Given the description of an element on the screen output the (x, y) to click on. 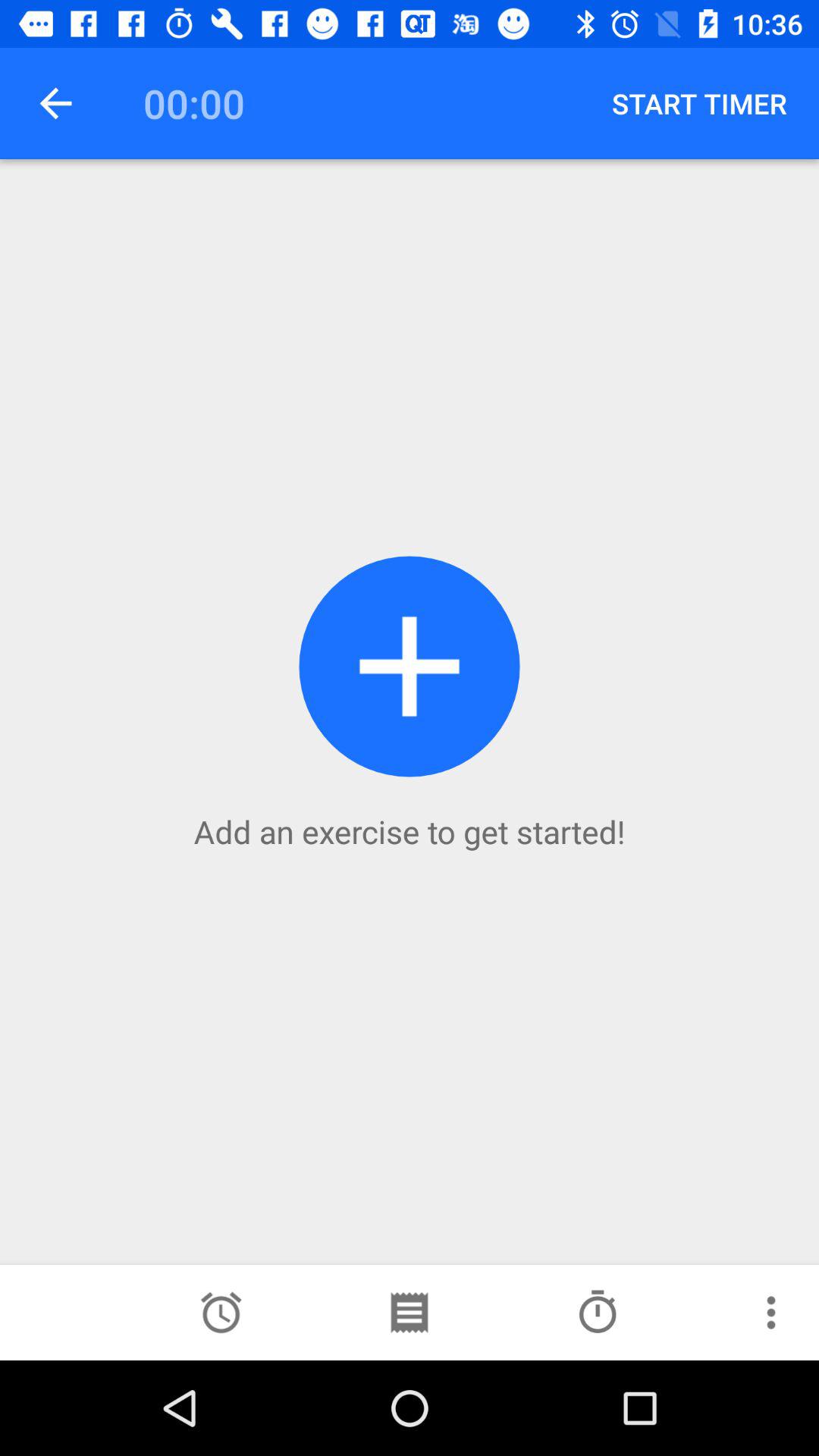
display the current time (221, 1312)
